Given the description of an element on the screen output the (x, y) to click on. 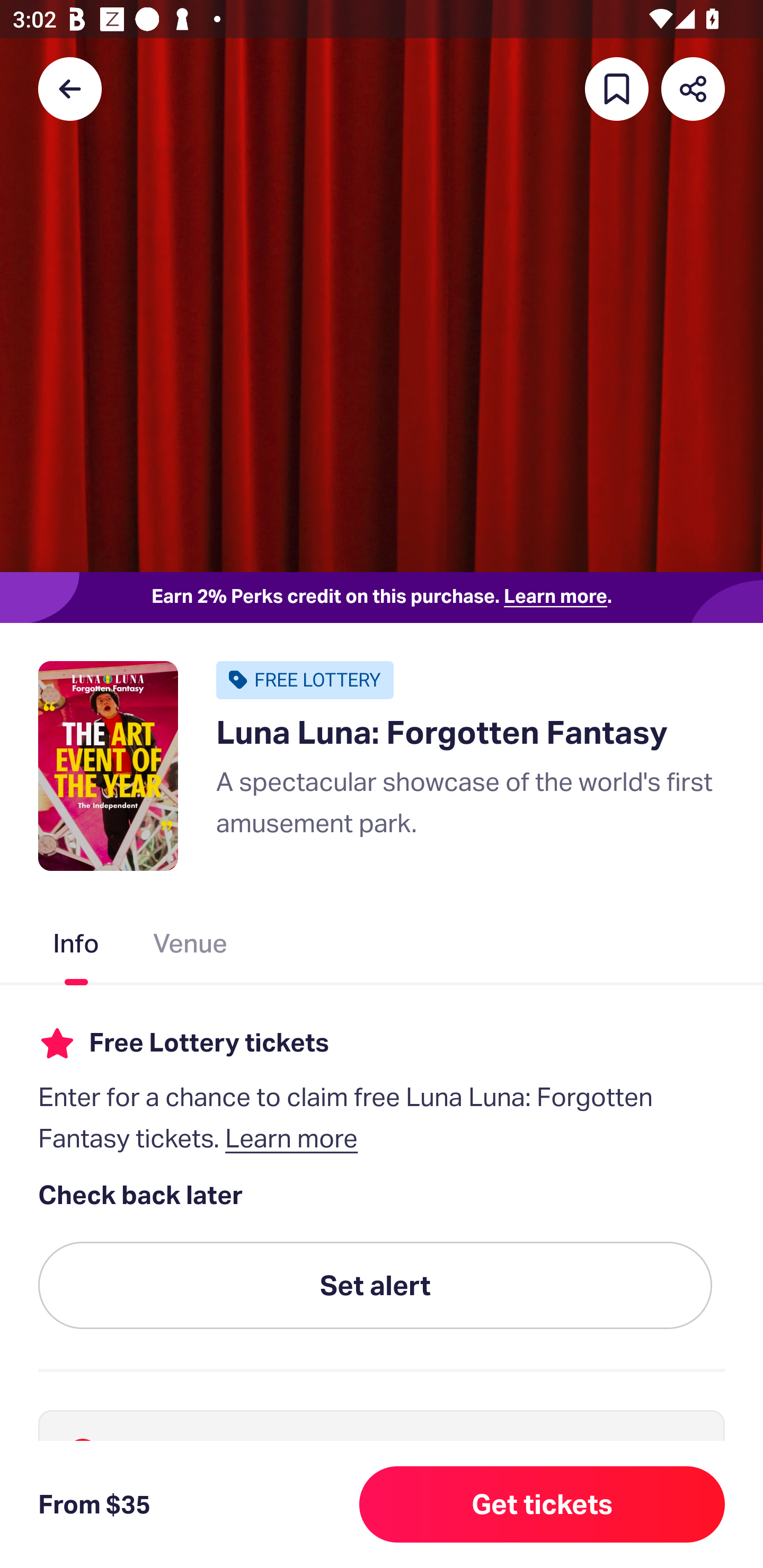
Earn 2% Perks credit on this purchase. Learn more. (381, 597)
Venue (190, 946)
Set alert (374, 1286)
Get tickets (541, 1504)
